Given the description of an element on the screen output the (x, y) to click on. 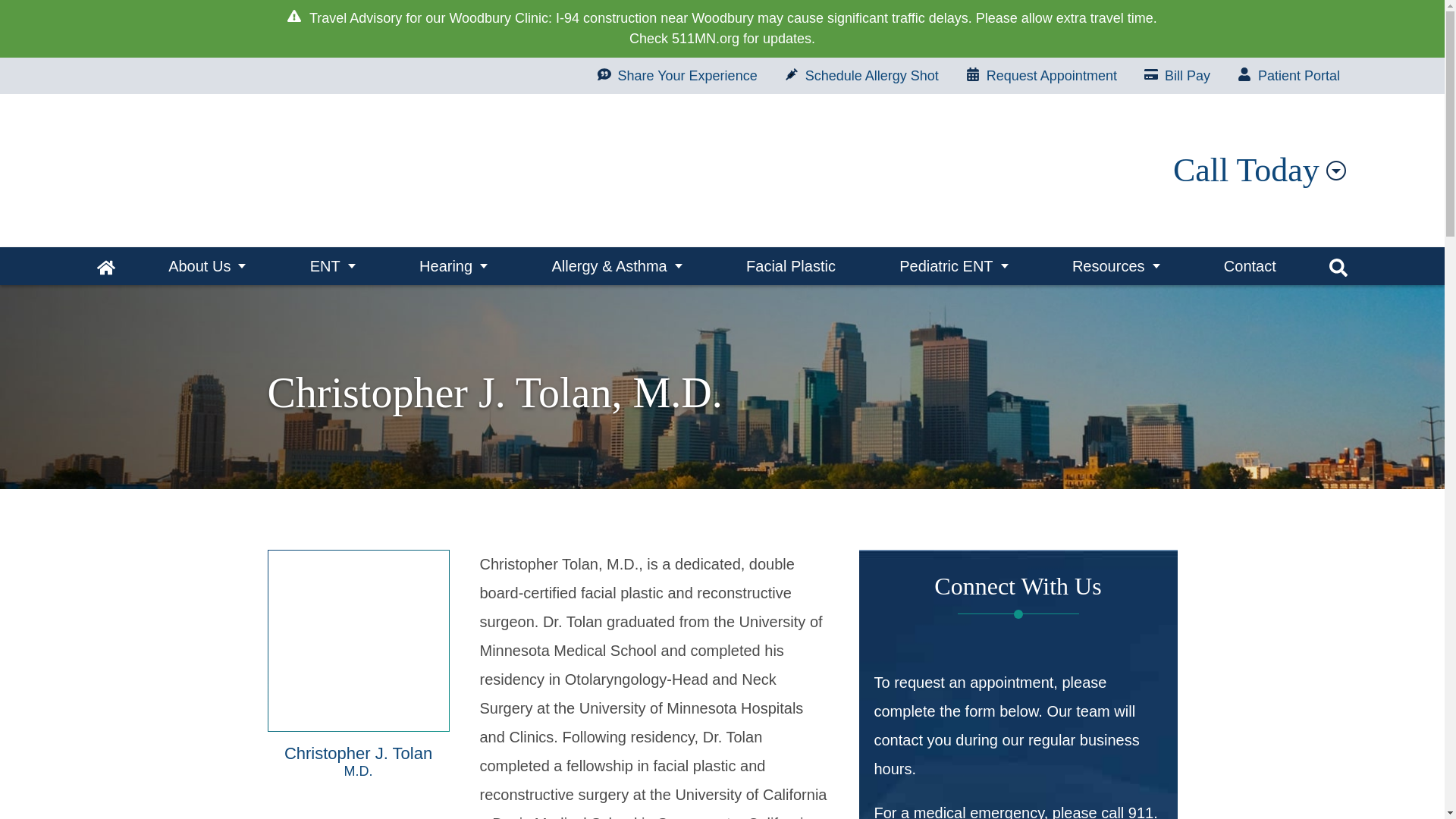
Home (105, 266)
Schedule Allergy Shot (861, 76)
Bill Pay (1177, 76)
Call Today (1259, 170)
Share Your Experience (677, 76)
Patient Portal (1289, 76)
Request Appointment (1041, 76)
About Us (207, 266)
